Given the description of an element on the screen output the (x, y) to click on. 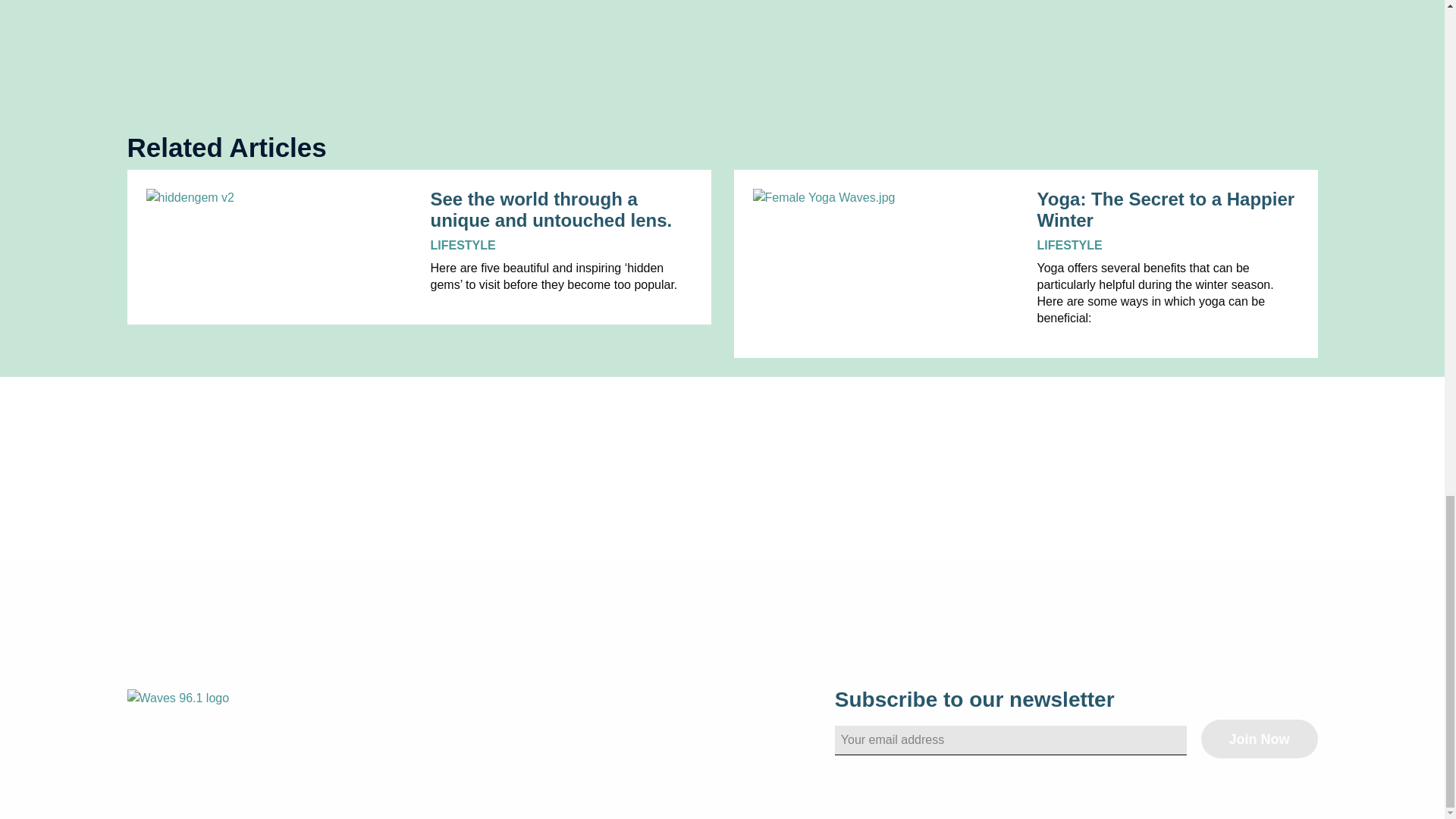
Yoga: The Secret to a Happier Winter (1167, 210)
Join Now (1259, 738)
See the world through a unique and untouched lens. (561, 210)
hiddengem v2 (276, 198)
LIFESTYLE (1069, 245)
Female Yoga Waves.jpg (882, 198)
LIFESTYLE (463, 245)
Join Now (1259, 738)
